Given the description of an element on the screen output the (x, y) to click on. 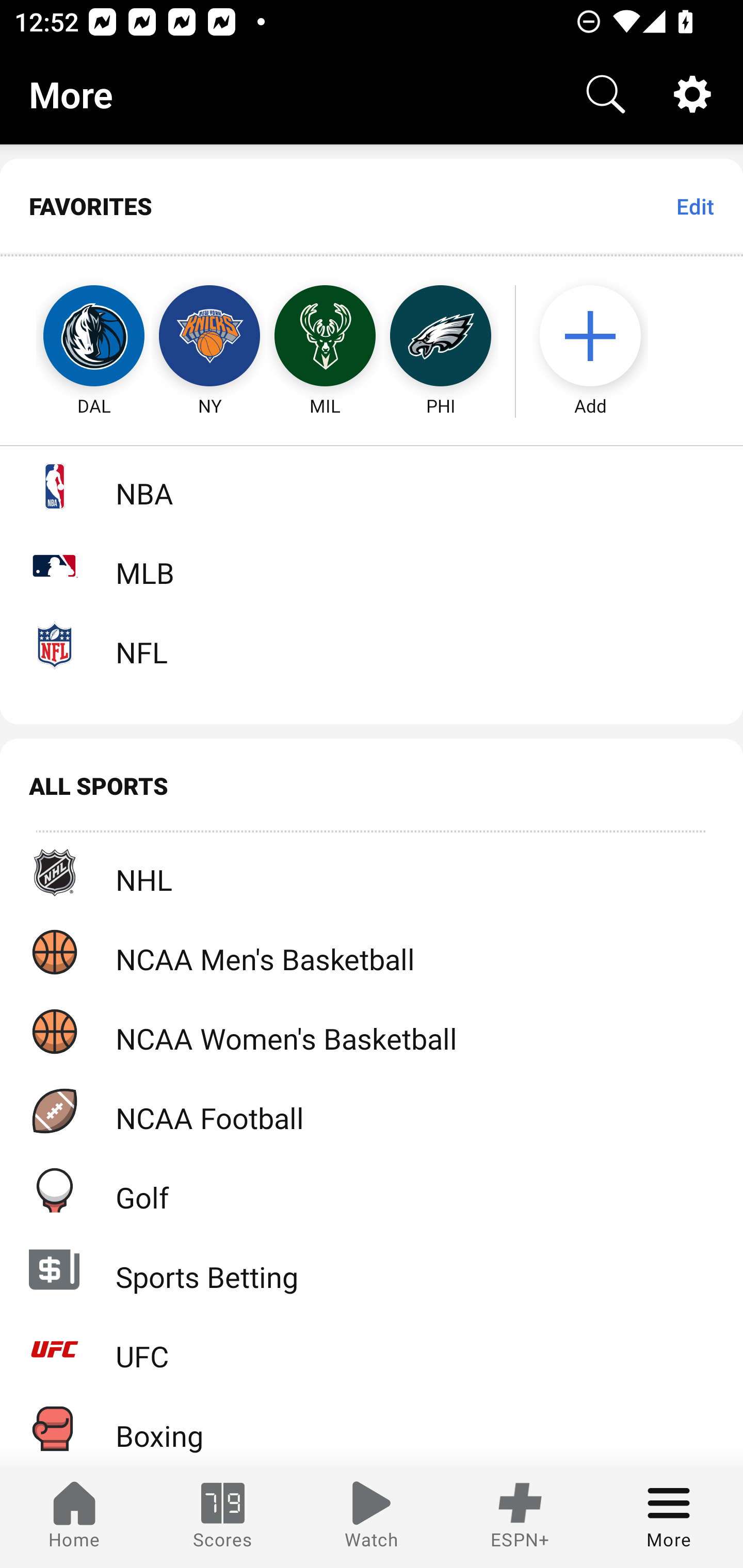
Search (605, 93)
Settings (692, 93)
Edit (695, 205)
DAL Dallas Mavericks (75, 336)
NY New York Knicks (209, 336)
MIL Milwaukee Bucks (324, 336)
PHI Philadelphia Eagles (440, 336)
 Add (599, 336)
NBA (371, 485)
MLB (371, 565)
NFL (371, 645)
NHL (371, 872)
NCAA Men's Basketball (371, 951)
NCAA Women's Basketball (371, 1030)
NCAA Football (371, 1110)
Golf (371, 1189)
Sports Betting (371, 1269)
UFC (371, 1349)
Boxing (371, 1428)
Home (74, 1517)
Scores (222, 1517)
Watch (371, 1517)
ESPN+ (519, 1517)
